Given the description of an element on the screen output the (x, y) to click on. 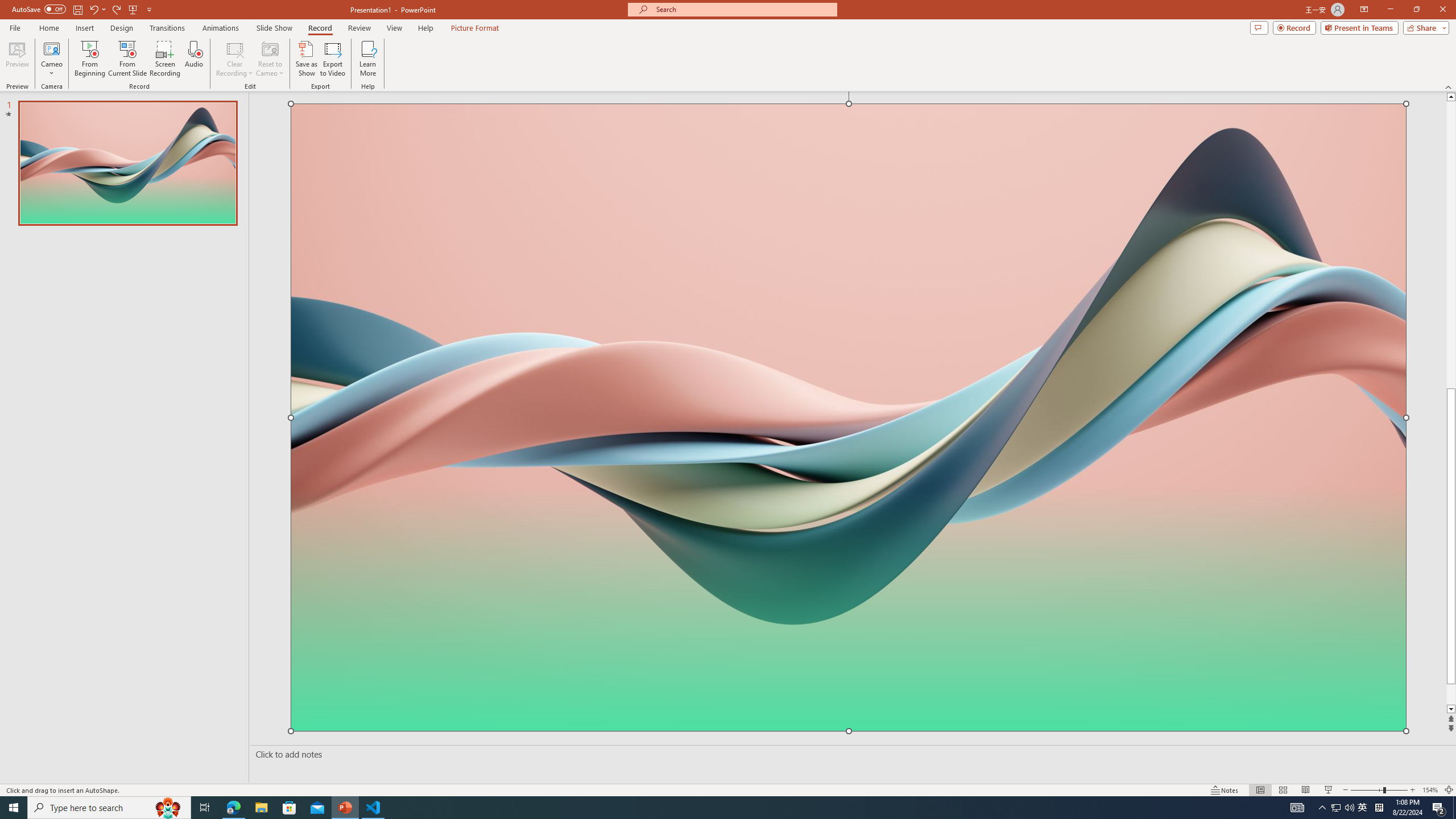
Save as Show (306, 58)
Export to Video (332, 58)
Wavy 3D art (848, 417)
From Beginning... (89, 58)
From Current Slide... (127, 58)
Zoom 154% (1430, 790)
